Given the description of an element on the screen output the (x, y) to click on. 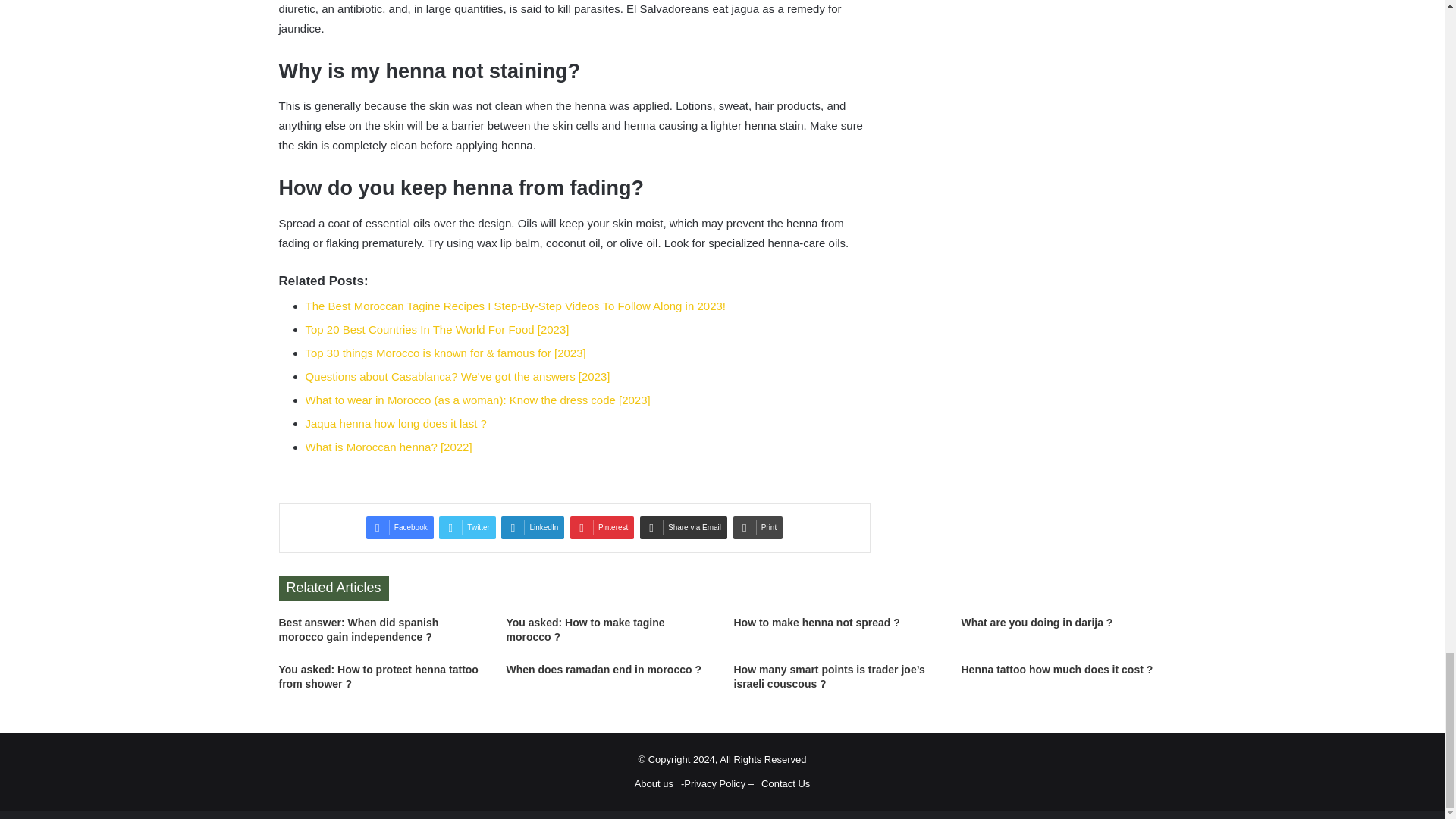
Twitter (467, 527)
Facebook (399, 527)
Twitter (467, 527)
Pinterest (601, 527)
Facebook (399, 527)
LinkedIn (532, 527)
Jaqua henna how long does it last ? (395, 422)
